Given the description of an element on the screen output the (x, y) to click on. 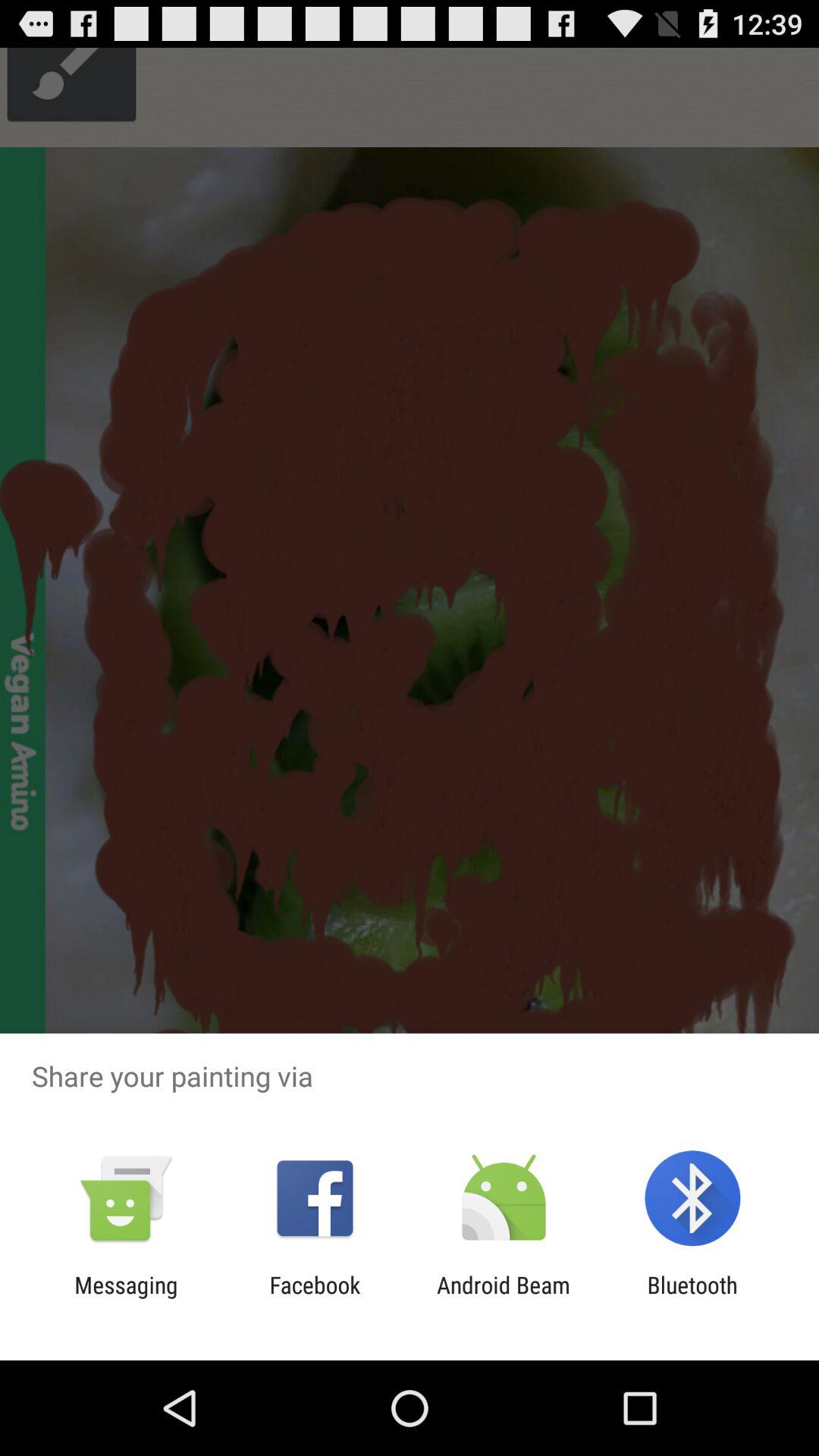
open icon next to bluetooth app (503, 1298)
